Given the description of an element on the screen output the (x, y) to click on. 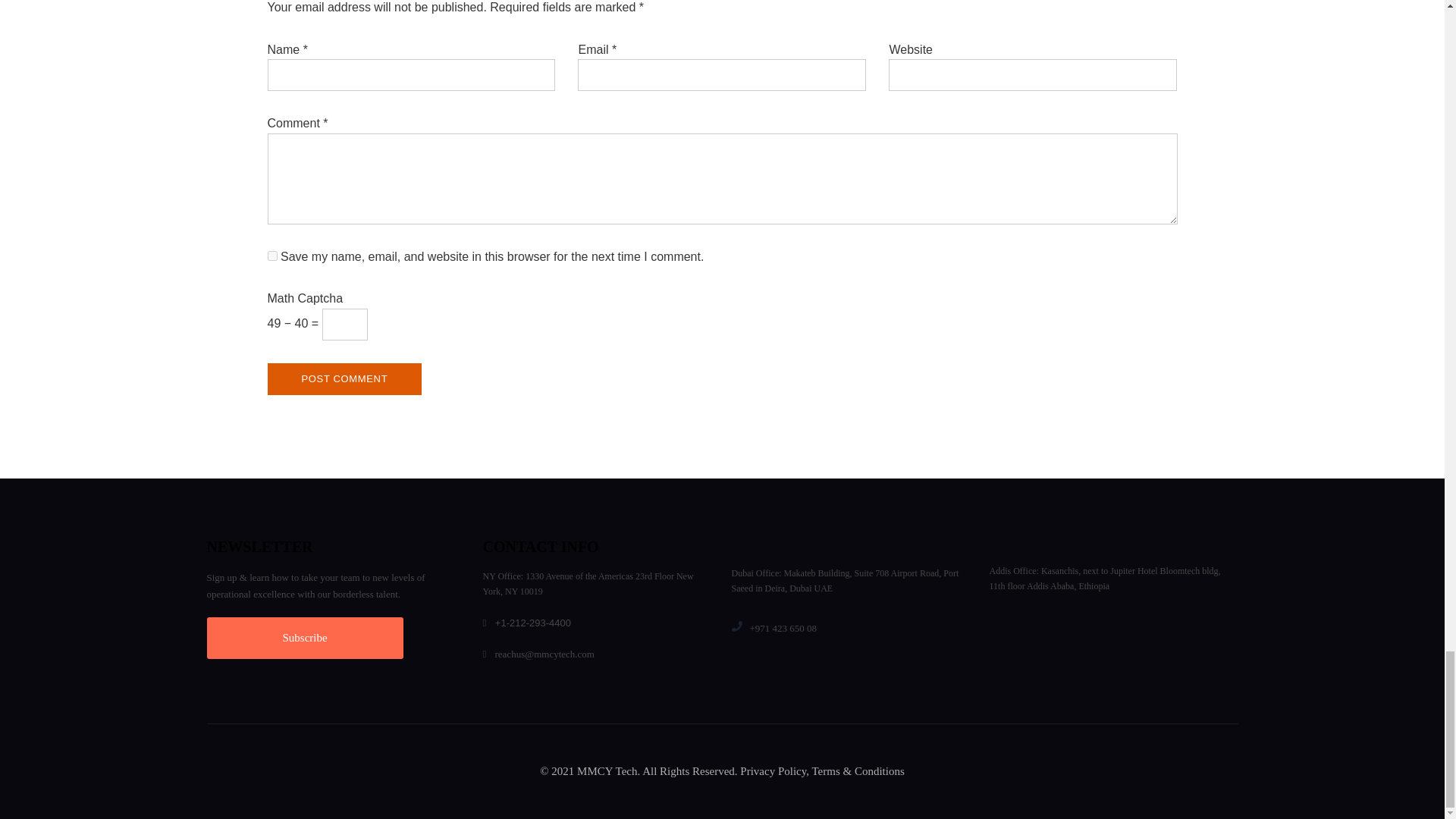
Subscribe (304, 638)
yes (271, 255)
Post Comment (344, 378)
Post Comment (344, 378)
Privacy Policy (772, 770)
